Given the description of an element on the screen output the (x, y) to click on. 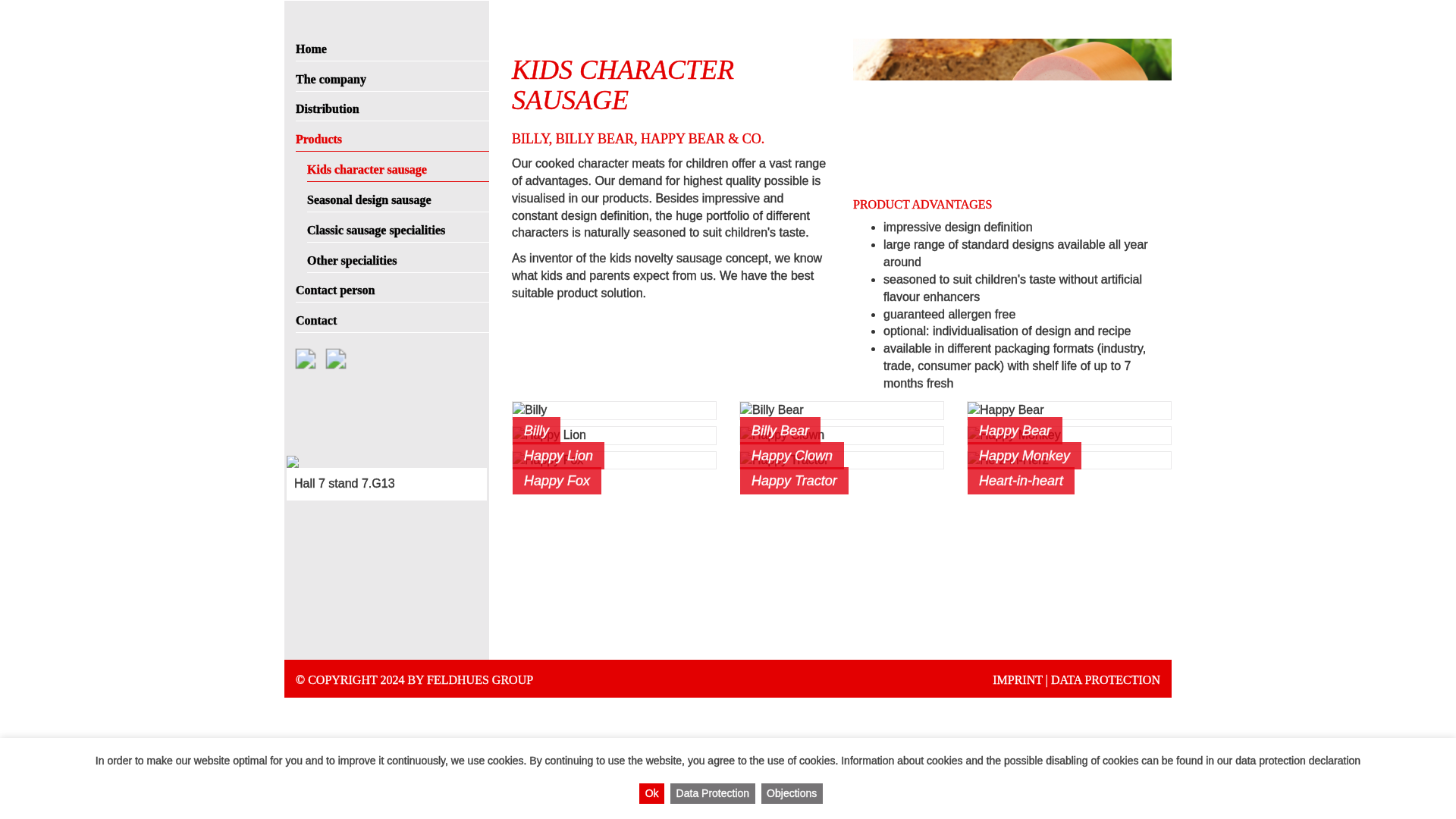
The company (392, 76)
Contact (392, 317)
Home (392, 46)
Seasonal design sausage (398, 196)
Distribution (392, 106)
Classic sausage specialities (398, 227)
Kids character sausage (398, 166)
Contact person (392, 287)
Other specialities (398, 257)
Products (392, 136)
